Given the description of an element on the screen output the (x, y) to click on. 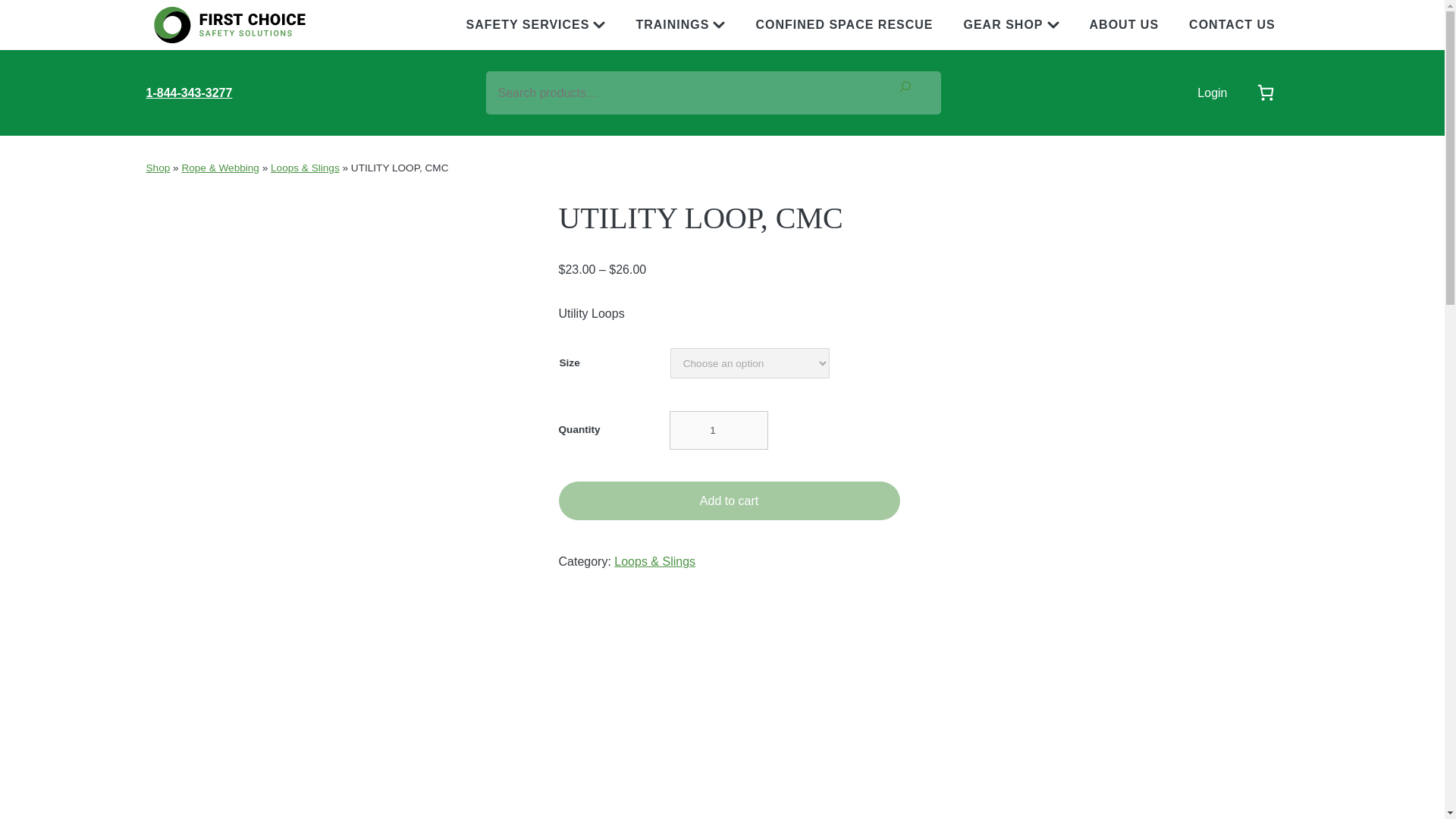
CONFINED SPACE RESCUE (843, 24)
1 (717, 430)
CONTACT US (1231, 24)
ABOUT US (1124, 24)
